Given the description of an element on the screen output the (x, y) to click on. 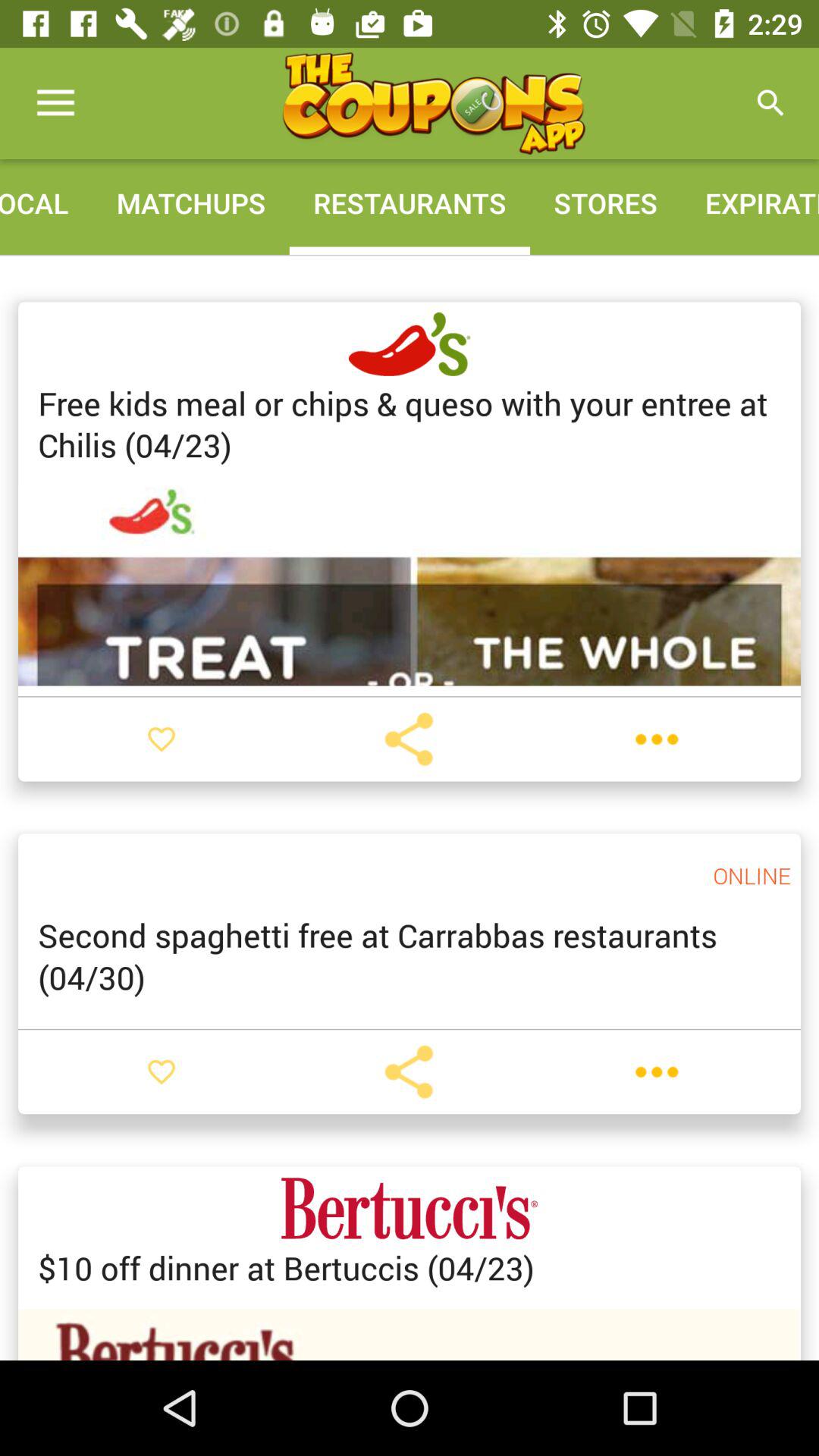
hit the share button (408, 739)
